Given the description of an element on the screen output the (x, y) to click on. 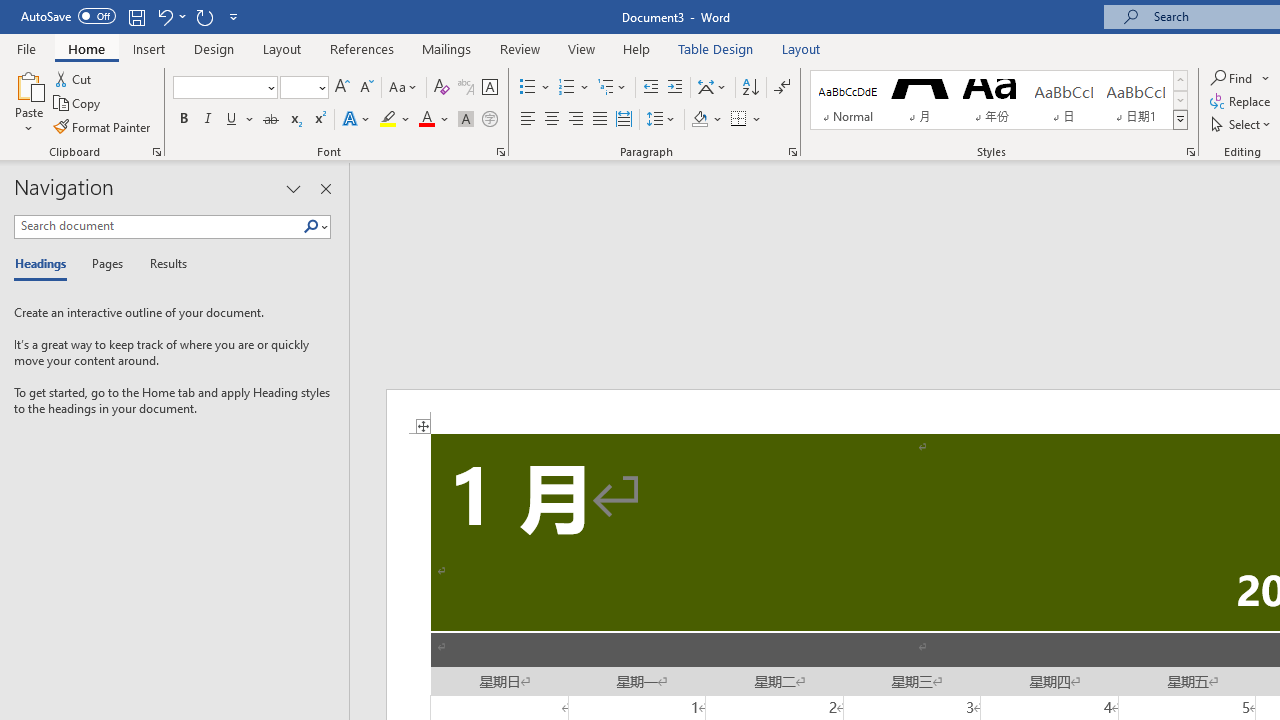
Customize Quick Access Toolbar (234, 15)
Styles... (1190, 151)
Undo Insert Row Below (170, 15)
Results (161, 264)
Styles (1179, 120)
Align Left (527, 119)
Numbering (573, 87)
Change Case (404, 87)
Font (218, 87)
Multilevel List (613, 87)
Grow Font (342, 87)
Center (552, 119)
Italic (207, 119)
Underline (239, 119)
System (10, 11)
